Given the description of an element on the screen output the (x, y) to click on. 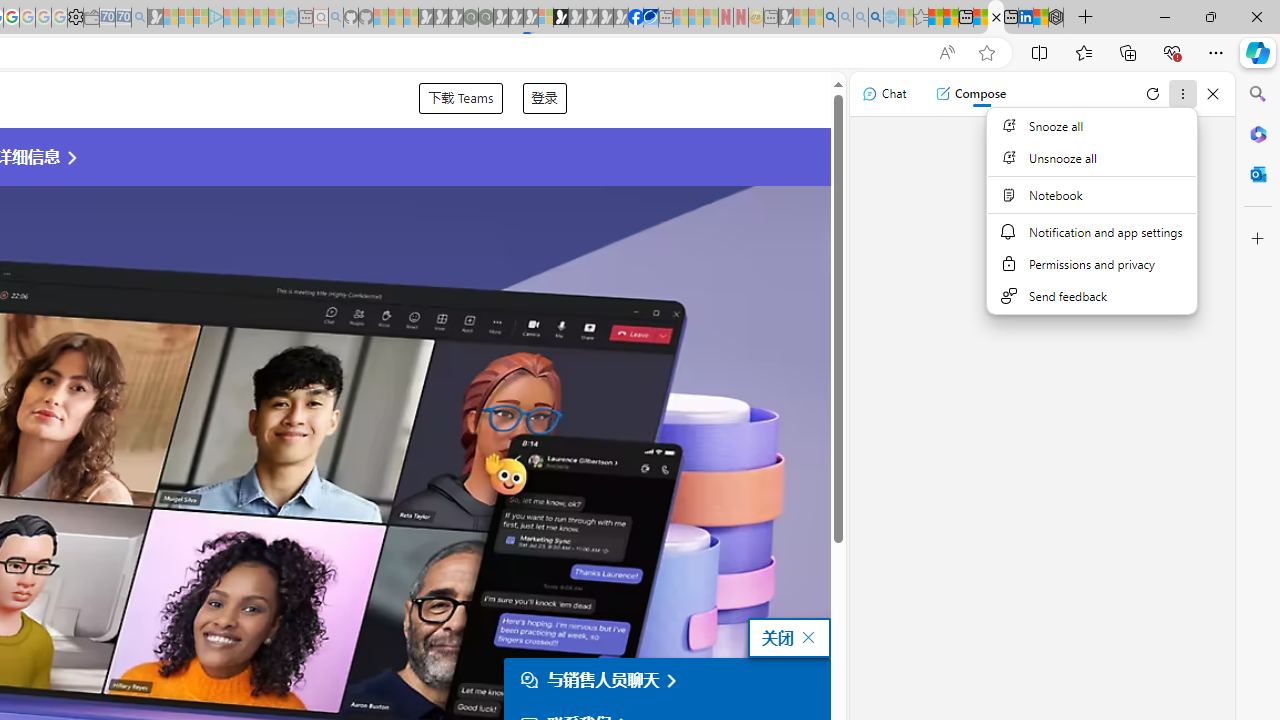
Permissions and privacy (1091, 263)
